Given the description of an element on the screen output the (x, y) to click on. 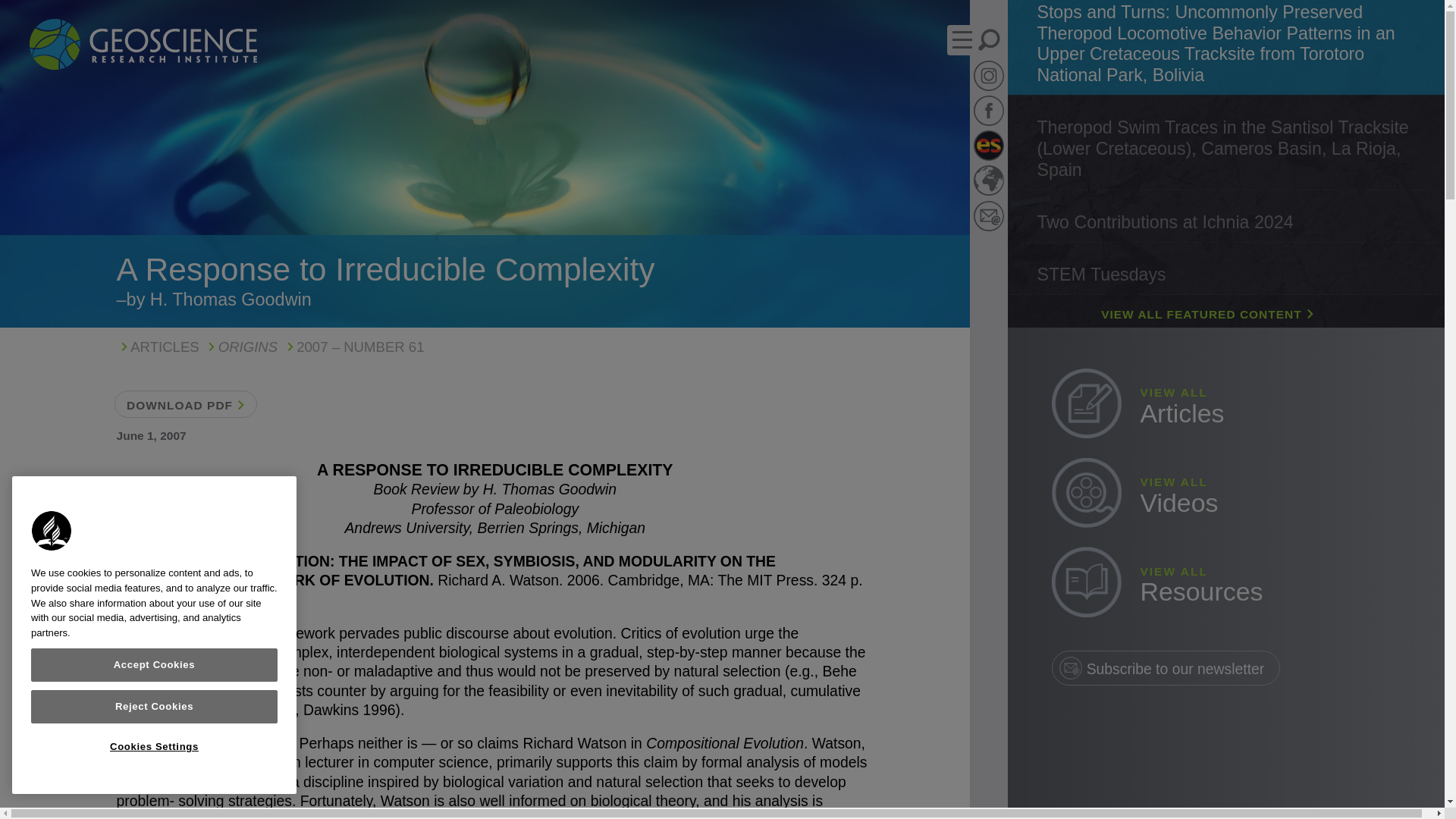
Subscribe to our newsletter (1165, 667)
ARTICLES (1225, 494)
DOWNLOAD PDF (157, 346)
ORIGINS (184, 403)
VIEW ALL FEATURED CONTENT (1225, 405)
Company Logo (240, 346)
